Given the description of an element on the screen output the (x, y) to click on. 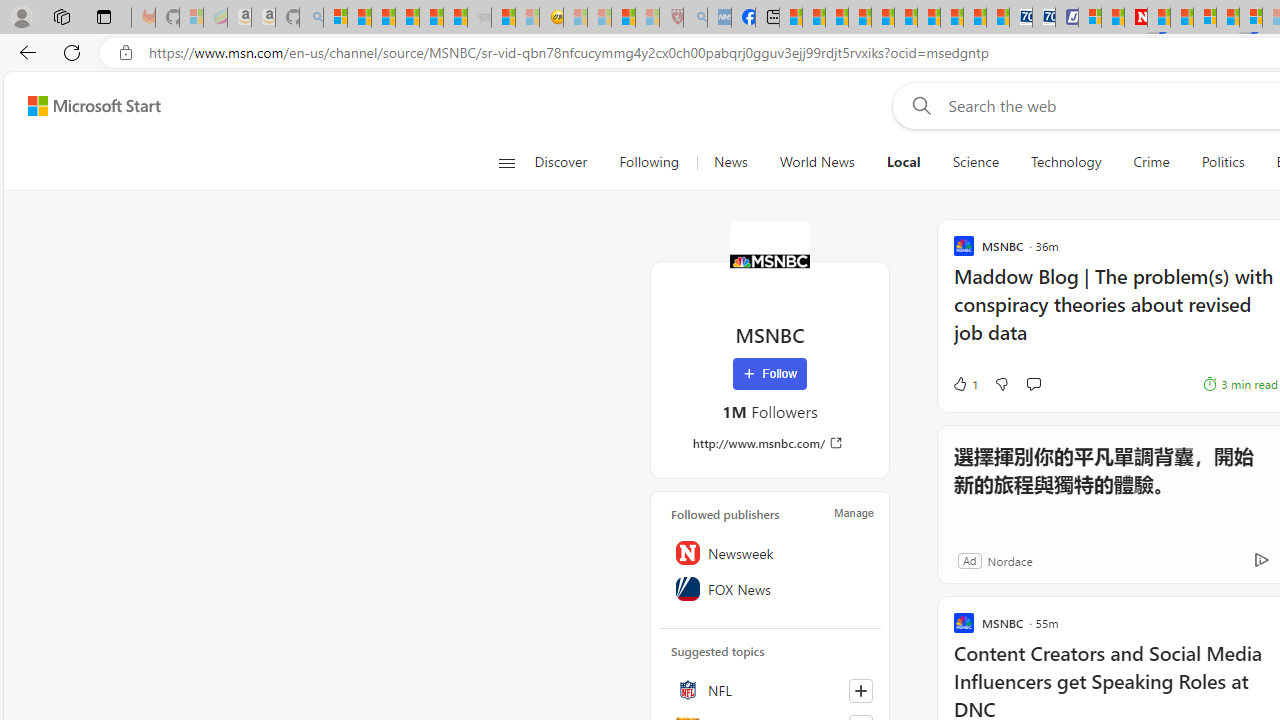
http://www.msnbc.com/ (769, 443)
